Given the description of an element on the screen output the (x, y) to click on. 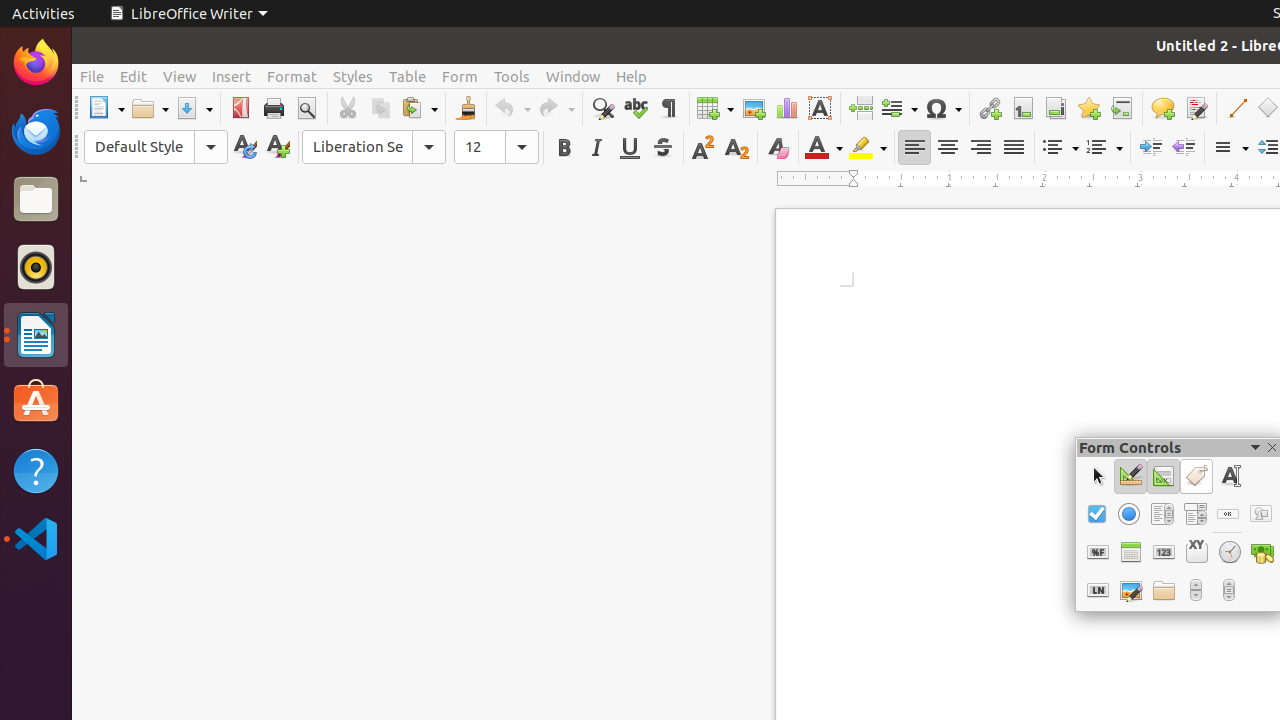
LibreOffice Writer Element type: menu (188, 13)
Option Button Element type: toggle-button (1128, 514)
Select Element type: push-button (1097, 476)
Date Field Element type: toggle-button (1130, 552)
Check Box Element type: push-button (1096, 514)
